Given the description of an element on the screen output the (x, y) to click on. 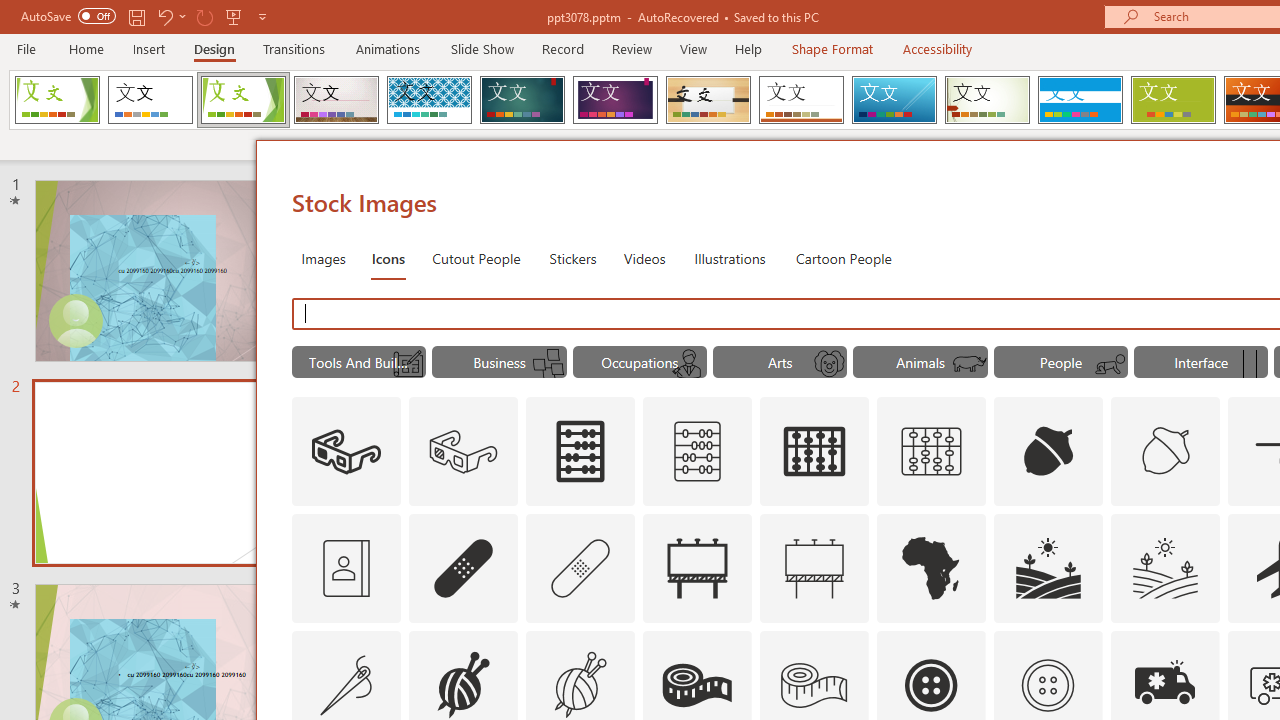
AutomationID: Icons_3dGlasses (346, 452)
Thumbnail (1204, 645)
AutomationID: Icons_Blueprint_M (408, 364)
AutomationID: Icons_AdhesiveBandage (463, 568)
AutomationID: Icons_BabyCrawling_M (1109, 364)
AutomationID: Icons_AddressBook_RTL_M (346, 568)
AutomationID: Icons_Abacus1 (815, 452)
AutomationID: Icons_Abacus1_M (931, 452)
